Given the description of an element on the screen output the (x, y) to click on. 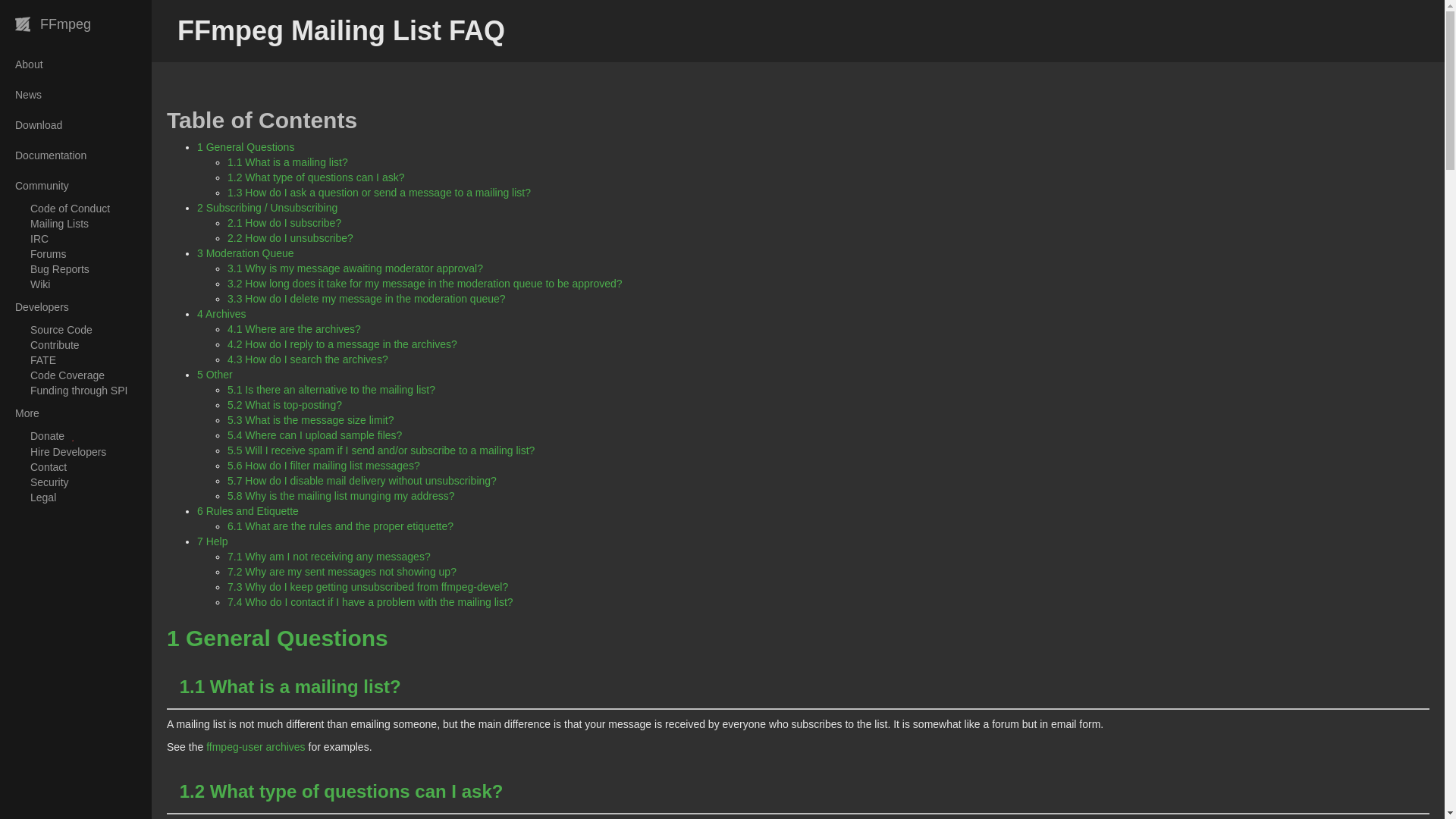
4.1 Where are the archives? (294, 328)
3.3 How do I delete my message in the moderation queue? (366, 298)
Contribute (75, 344)
Forums (75, 253)
3 Moderation Queue (245, 253)
4.2 How do I reply to a message in the archives? (342, 344)
3.1 Why is my message awaiting moderator approval? (355, 268)
Code of Conduct (75, 208)
1.1 What is a mailing list? (287, 162)
